Given the description of an element on the screen output the (x, y) to click on. 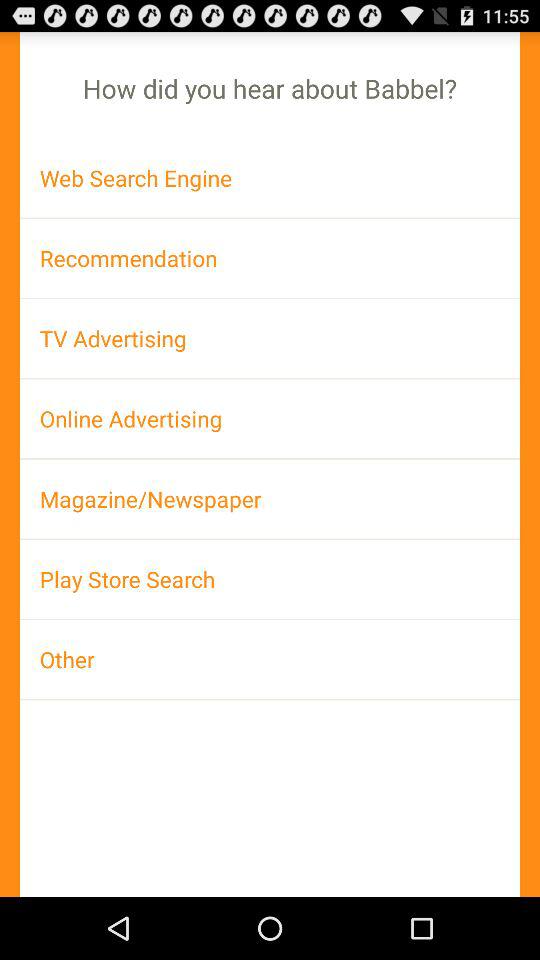
flip until play store search item (269, 579)
